Given the description of an element on the screen output the (x, y) to click on. 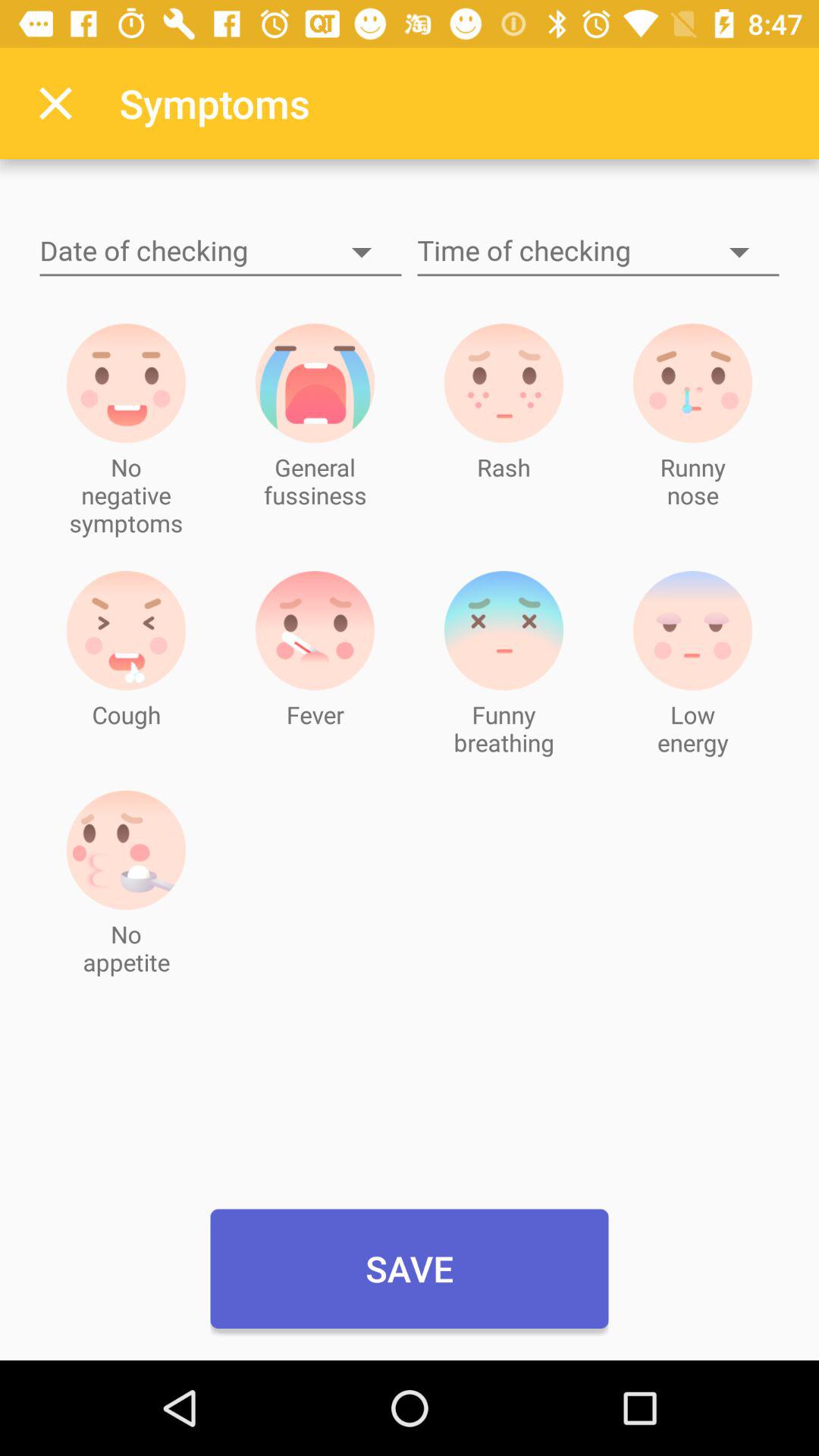
edit time (598, 251)
